Given the description of an element on the screen output the (x, y) to click on. 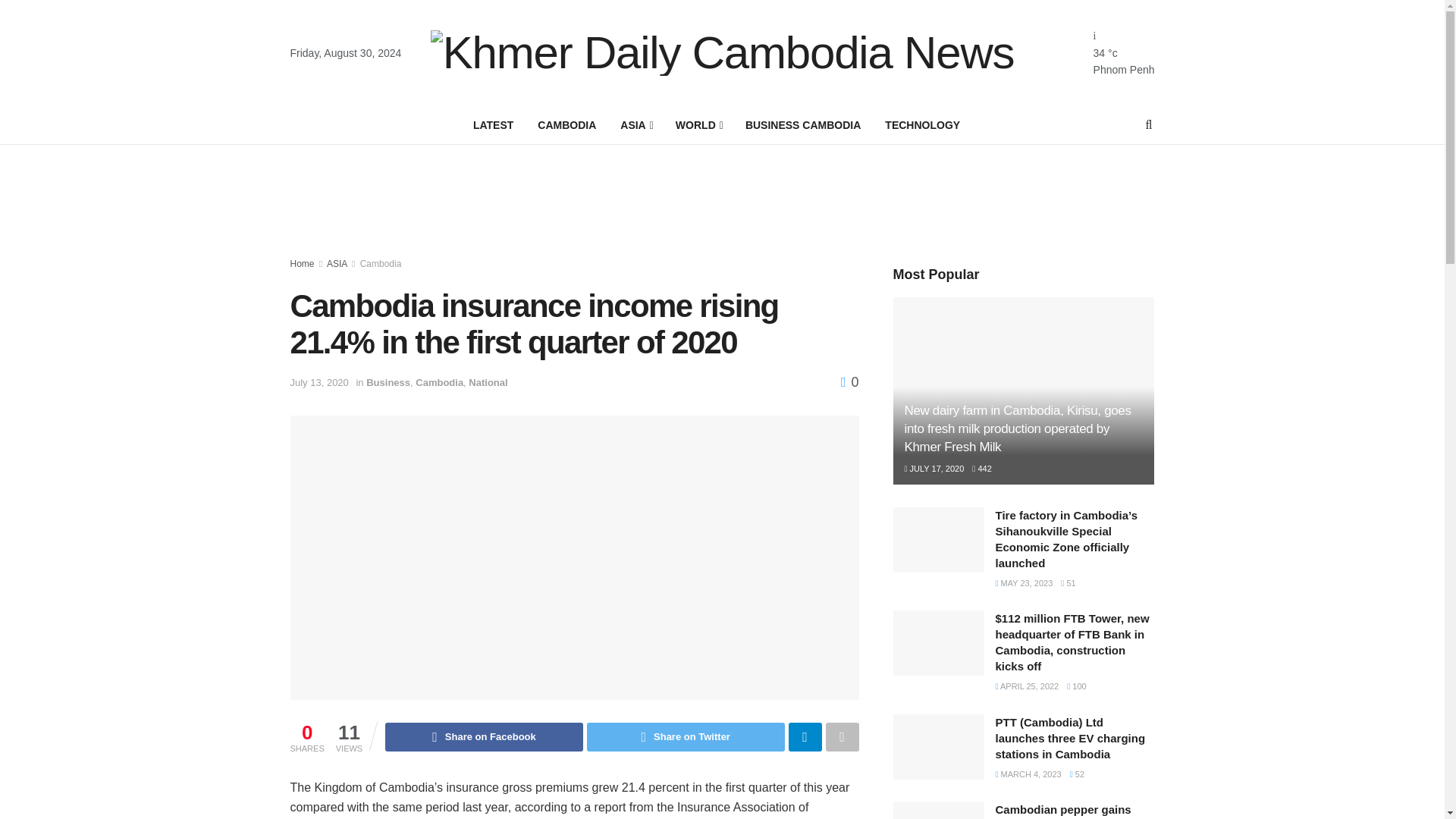
TECHNOLOGY (922, 125)
0 (850, 381)
BUSINESS CAMBODIA (802, 125)
July 13, 2020 (318, 382)
Home (301, 263)
CAMBODIA (566, 125)
ASIA (336, 263)
Cambodia (380, 263)
National (487, 382)
Cambodia (438, 382)
